Given the description of an element on the screen output the (x, y) to click on. 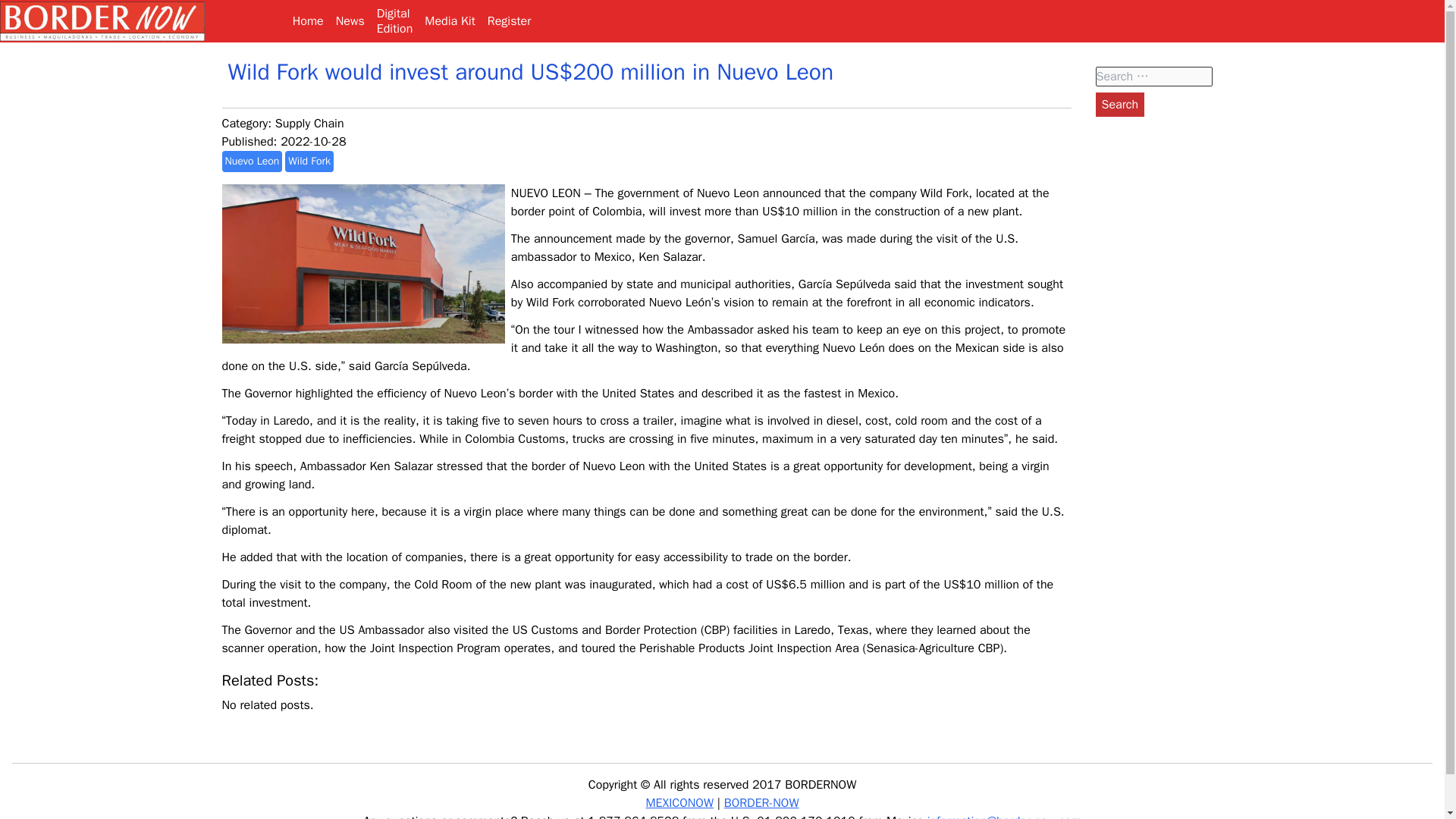
Register (509, 21)
Wild Fork (309, 160)
MEXICONOW (679, 802)
Nuevo Leon (395, 21)
Nuevo Leon Tag (251, 160)
Supply Chain (251, 160)
BORDER-NOW (309, 123)
Wild Fork Tag (761, 802)
Search (309, 160)
Search (1119, 104)
Search (1119, 104)
Media Kit (1119, 104)
Home (449, 21)
